Given the description of an element on the screen output the (x, y) to click on. 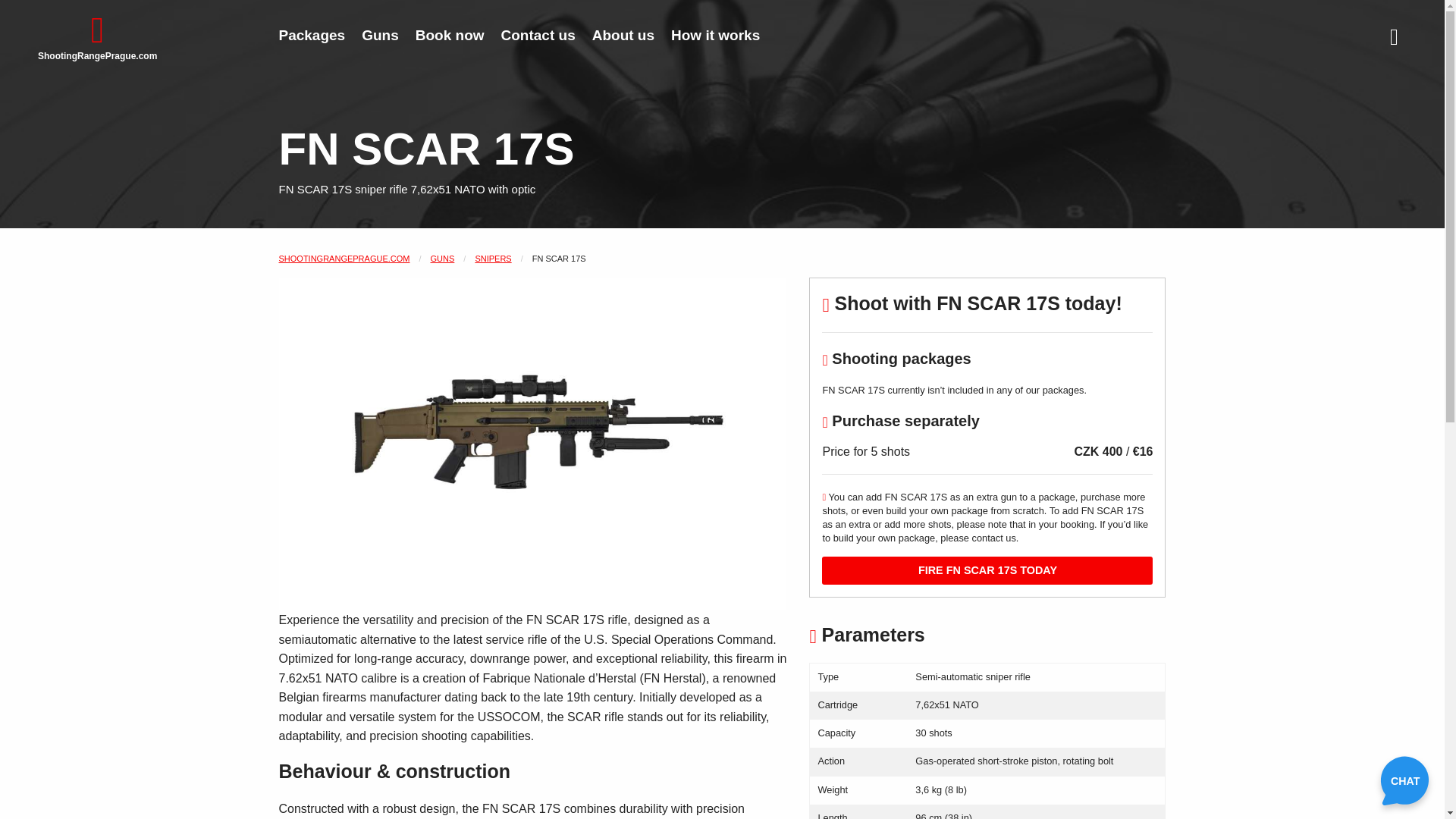
SNIPERS (492, 257)
Packages (311, 35)
How it works (715, 35)
Guns (380, 35)
GUNS (442, 257)
Book now (450, 35)
SHOOTINGRANGEPRAGUE.COM (344, 257)
Contact us (538, 35)
ShootingRangePrague.com (97, 43)
FIRE FN SCAR 17S TODAY (987, 570)
About us (622, 35)
